Given the description of an element on the screen output the (x, y) to click on. 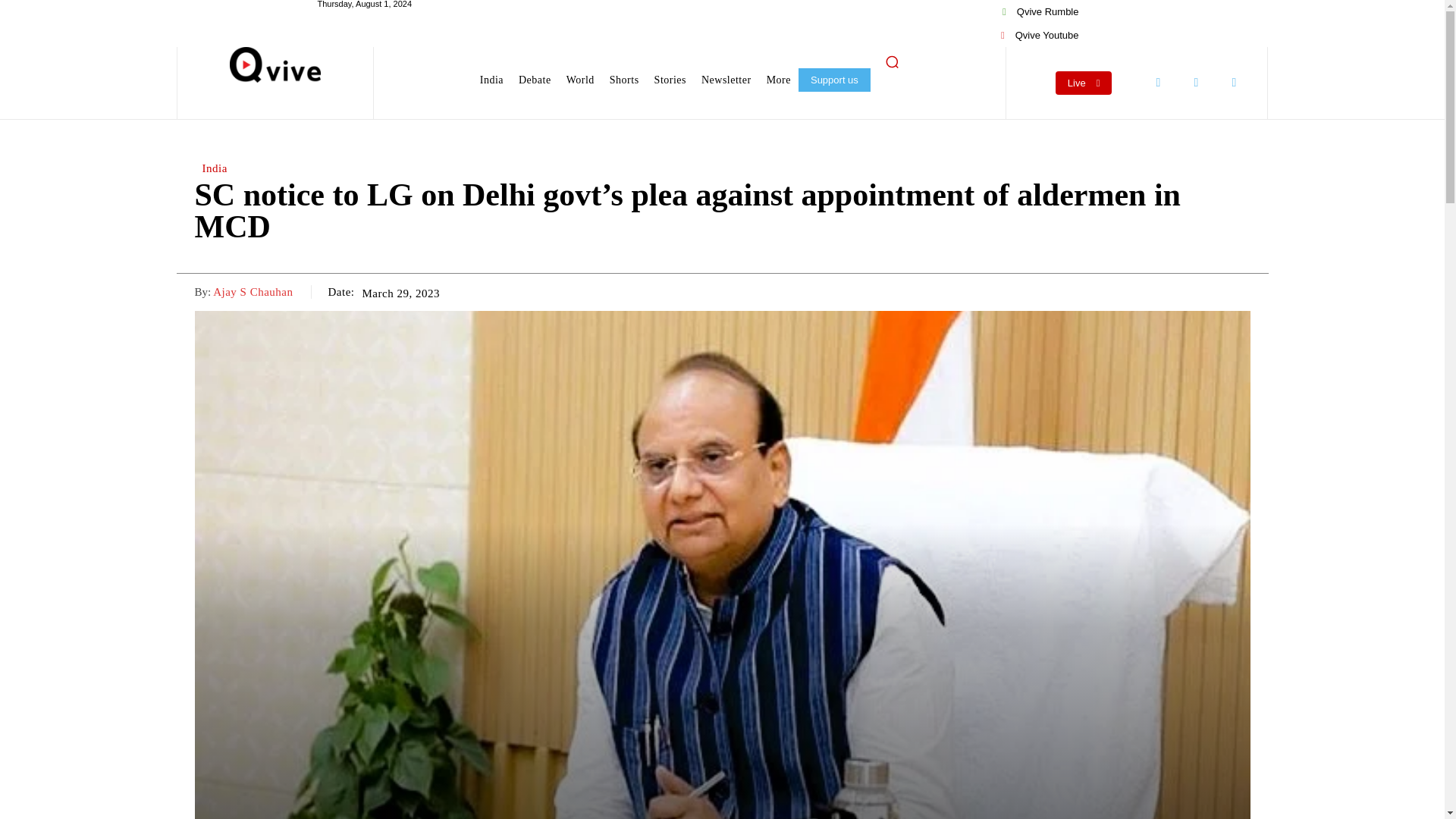
Qvive Rumble (1040, 11)
Support us (833, 79)
Qvive Youtube (1039, 34)
Support us (833, 79)
Facebook (1157, 82)
Twitter (1195, 82)
Live (1083, 83)
Newsletter (726, 79)
Qvive Rumble (1040, 11)
Live (1083, 83)
Qvive Youtube (1039, 34)
Telegram (1233, 82)
